Given the description of an element on the screen output the (x, y) to click on. 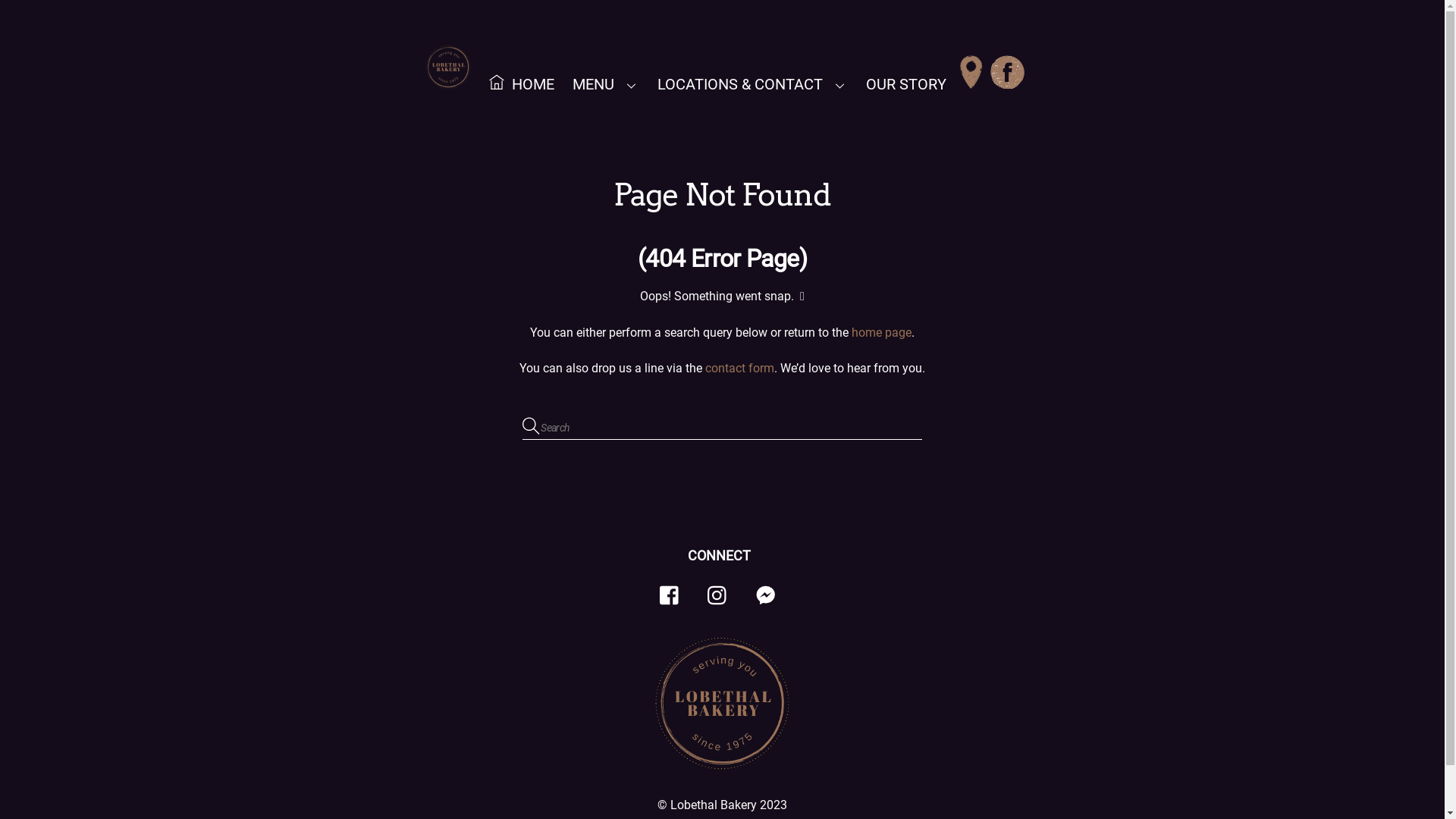
LOCATIONS & CONTACT Element type: text (752, 84)
OUR STORY Element type: text (905, 84)
contact form Element type: text (739, 367)
home page Element type: text (881, 332)
Lobethal Bakery Element type: text (713, 804)
Search Element type: hover (722, 428)
MENU Element type: text (605, 84)
HOME Element type: text (521, 82)
